Given the description of an element on the screen output the (x, y) to click on. 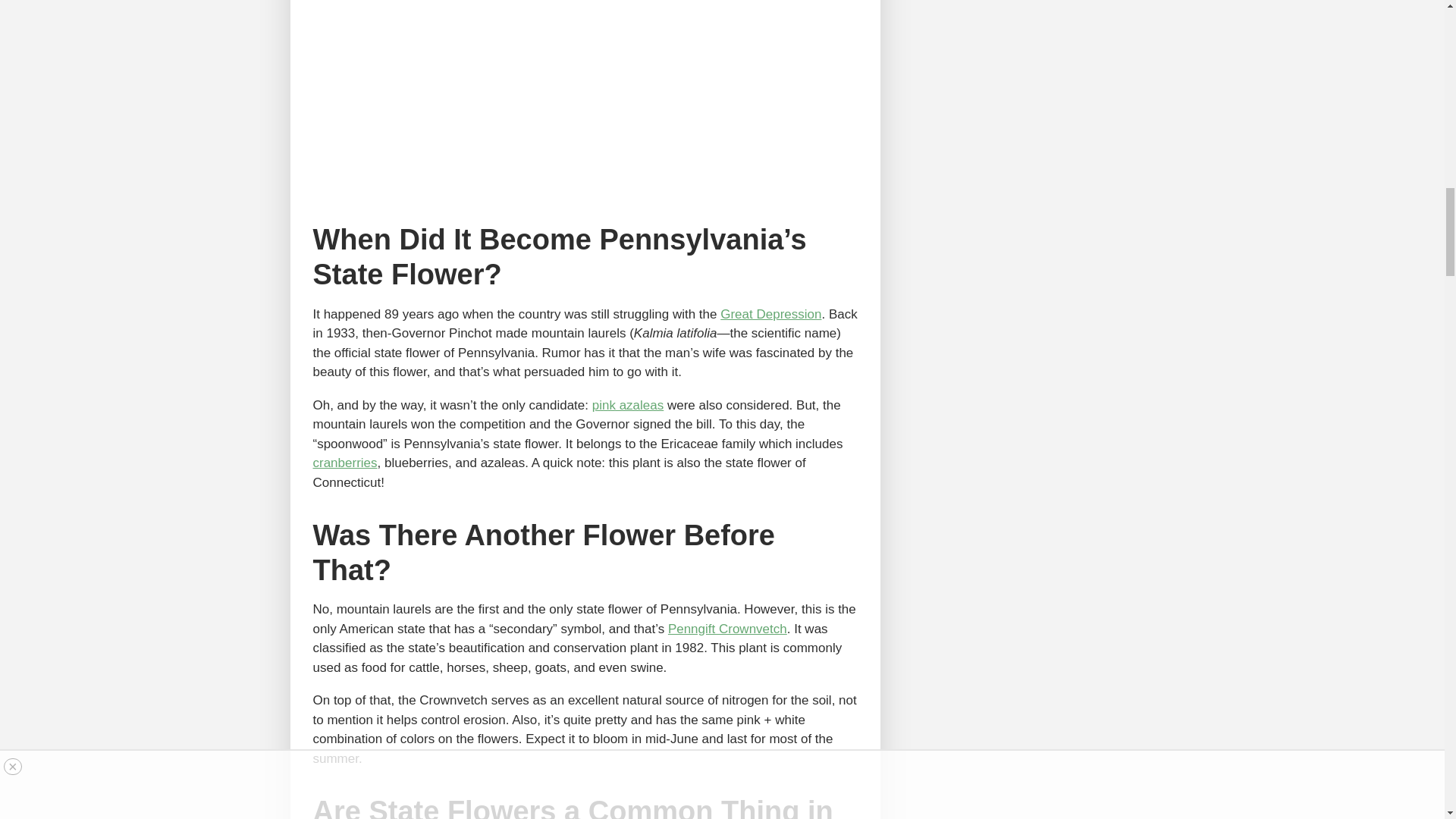
pink azaleas (627, 405)
Penngift Crownvetch (727, 628)
cranberries (345, 462)
Great Depression (770, 314)
